Given the description of an element on the screen output the (x, y) to click on. 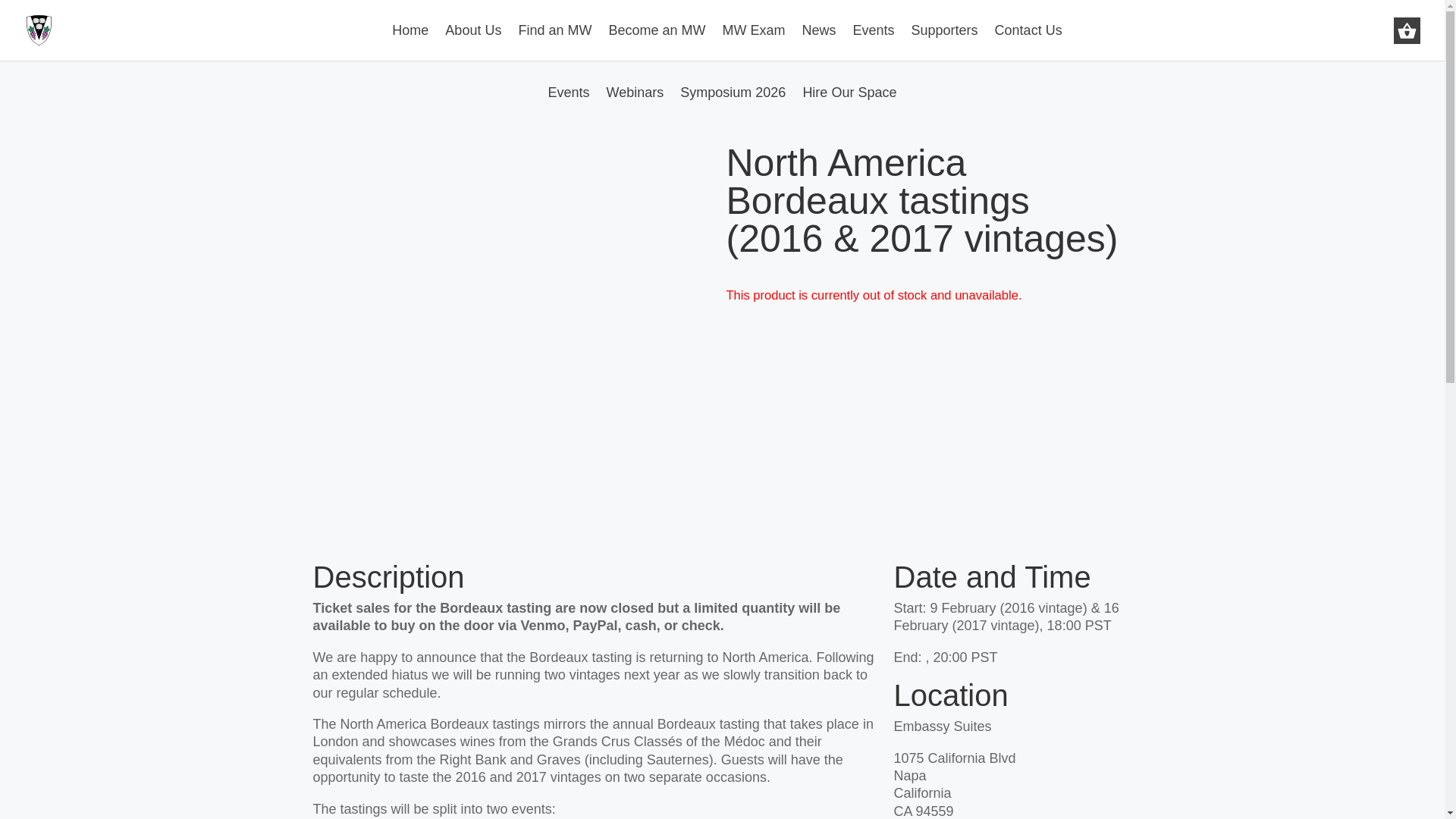
Events (568, 103)
Events (872, 42)
Symposium 2026 (732, 103)
Become an MW (656, 42)
MW Exam (753, 42)
Webinars (635, 103)
About Us (472, 42)
News (818, 42)
Home (409, 42)
Hire Our Space (849, 103)
